Given the description of an element on the screen output the (x, y) to click on. 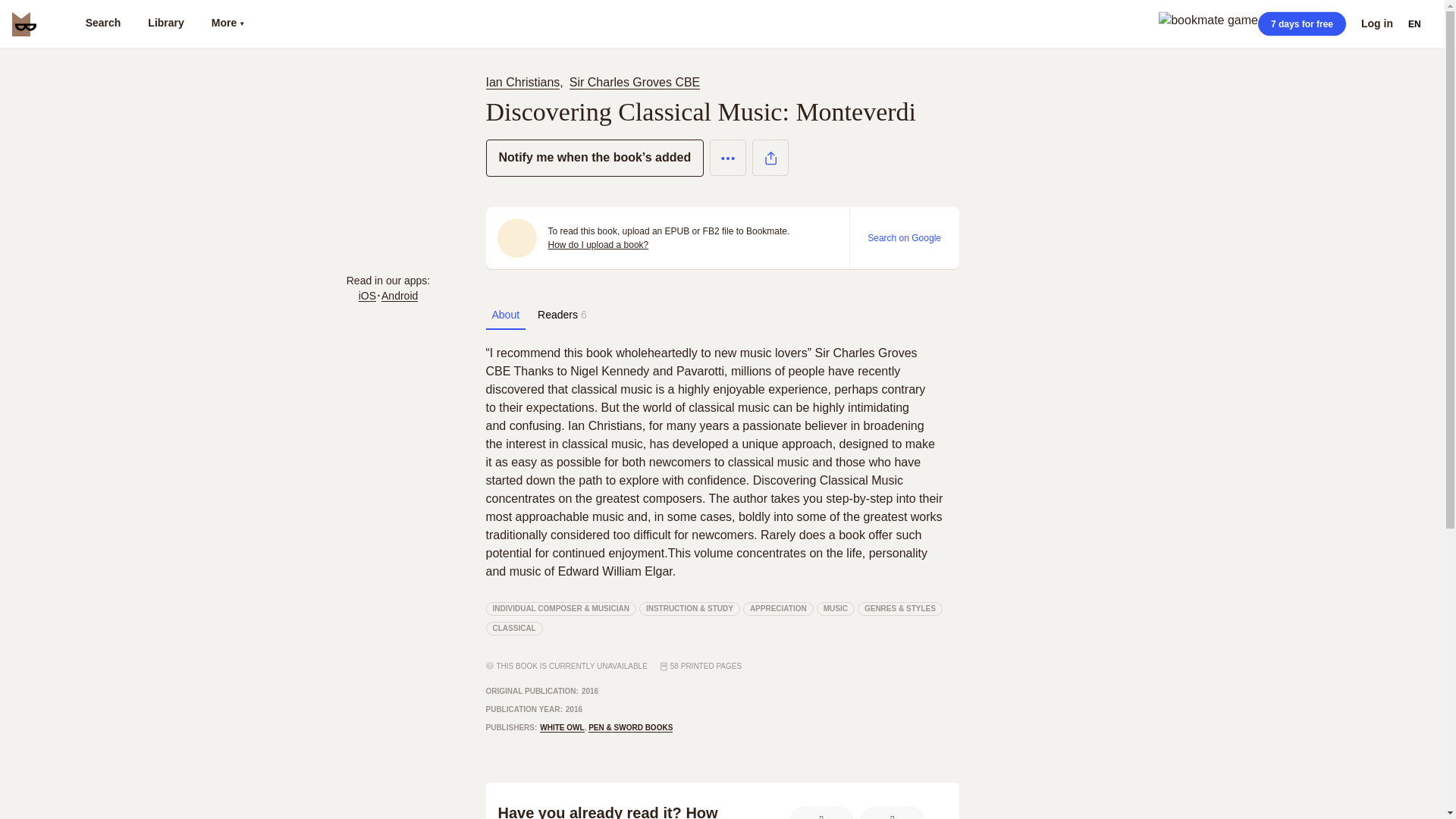
Ian Christians (521, 82)
Ian Christians, Sir Charles Groves CBE (595, 82)
7 days for free (1301, 23)
How do I upload a book? (597, 244)
CLASSICAL (512, 628)
About (504, 314)
Search on Google (903, 237)
APPRECIATION (777, 608)
Sir Charles Groves CBE (634, 82)
WHITE OWL (561, 727)
MUSIC (835, 608)
